Given the description of an element on the screen output the (x, y) to click on. 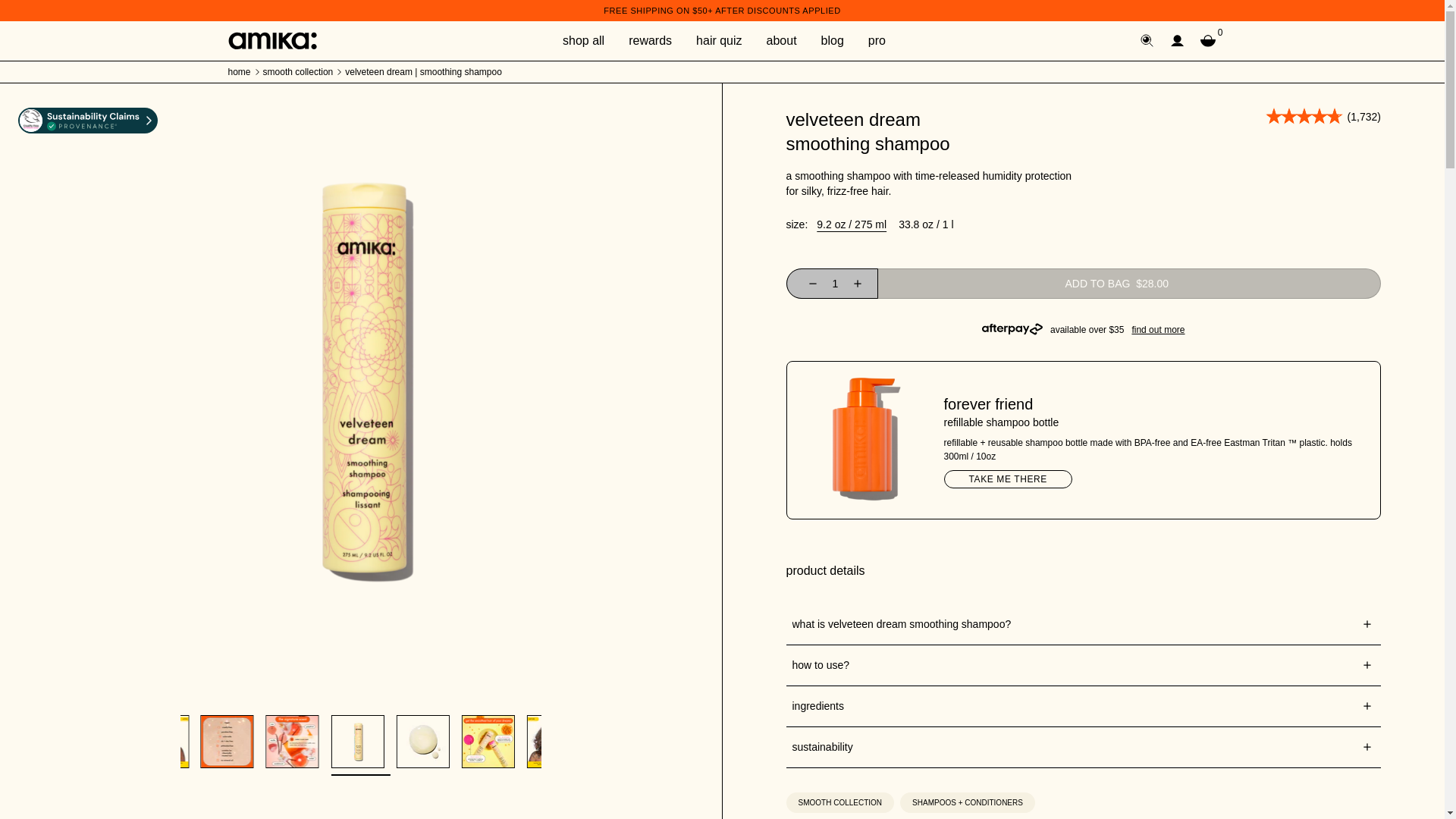
shop all (582, 40)
Skip to content (11, 11)
